Given the description of an element on the screen output the (x, y) to click on. 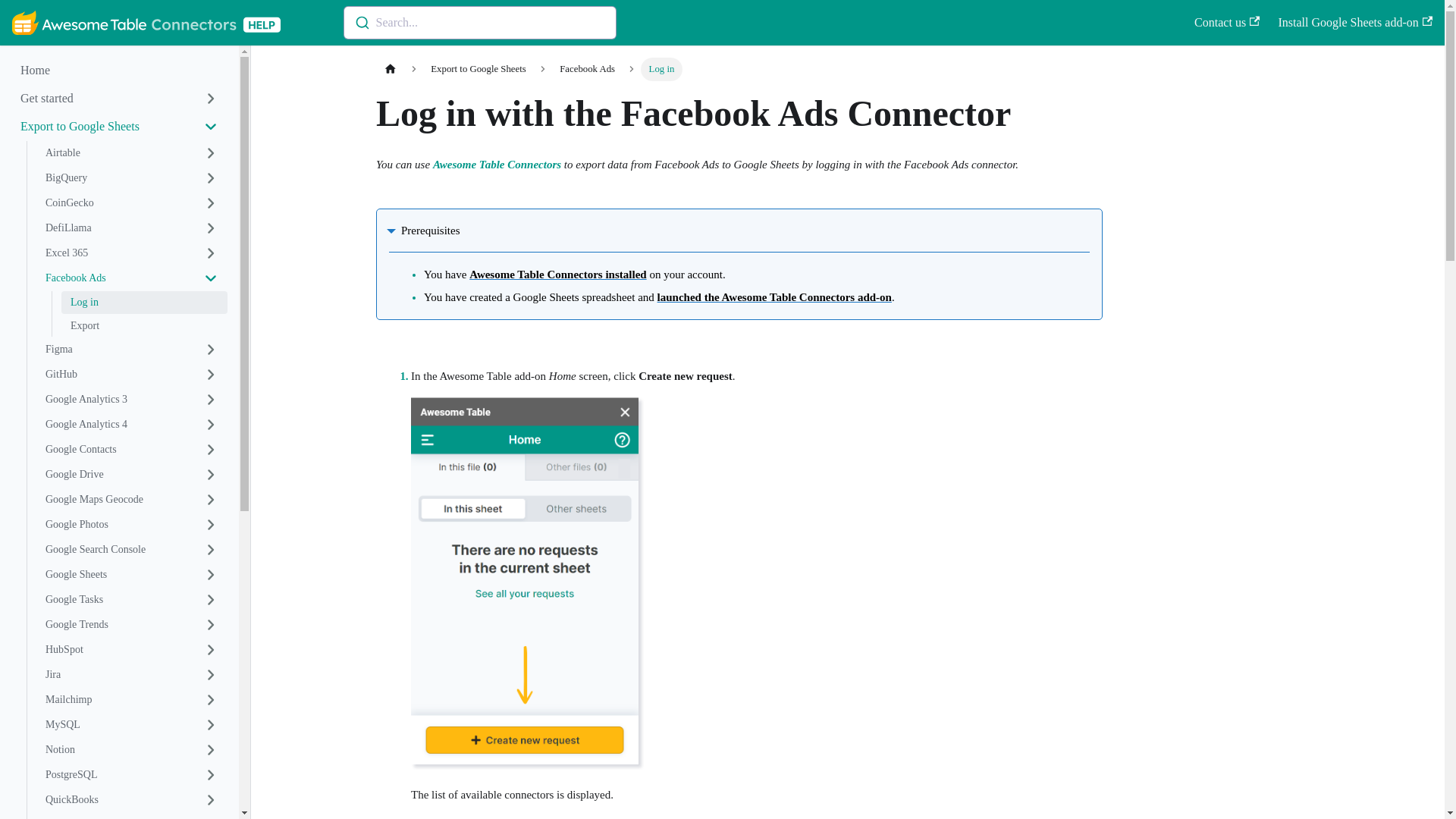
Google Maps Geocode (131, 499)
Google Contacts (131, 449)
Log in (144, 302)
Google Trends (131, 624)
Jira (131, 674)
HubSpot (131, 649)
Export (144, 324)
MySQL (131, 724)
Install Google Sheets add-on (1350, 22)
Google Sheets (131, 574)
Notion (131, 749)
Google Search Console (131, 549)
Home (119, 70)
Search... (479, 22)
Excel 365 (131, 252)
